Given the description of an element on the screen output the (x, y) to click on. 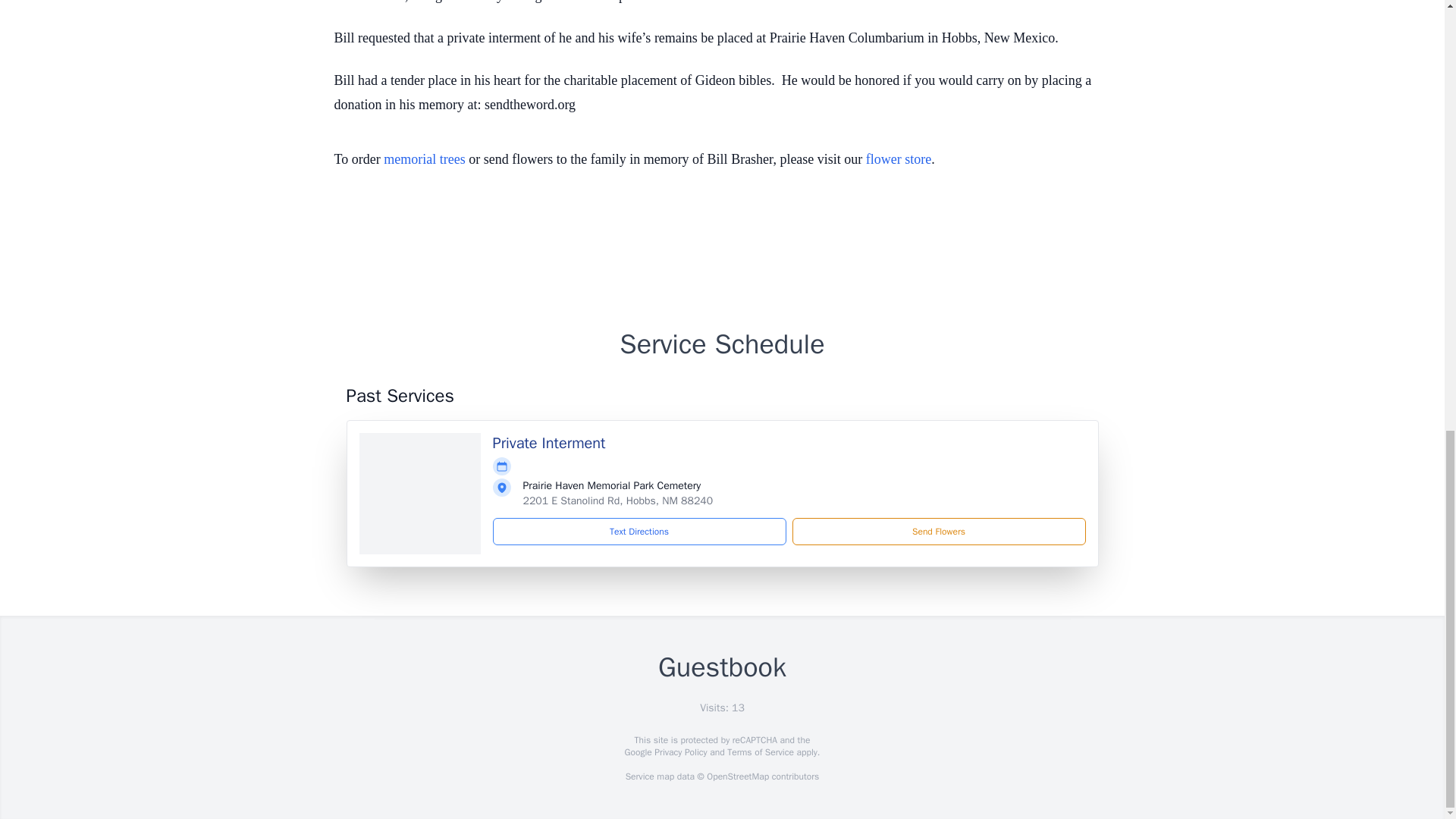
memorial trees (424, 159)
flower store (898, 159)
OpenStreetMap (737, 776)
Text Directions (639, 531)
2201 E Stanolind Rd, Hobbs, NM 88240 (617, 500)
Privacy Policy (679, 752)
Send Flowers (938, 531)
Terms of Service (759, 752)
